Given the description of an element on the screen output the (x, y) to click on. 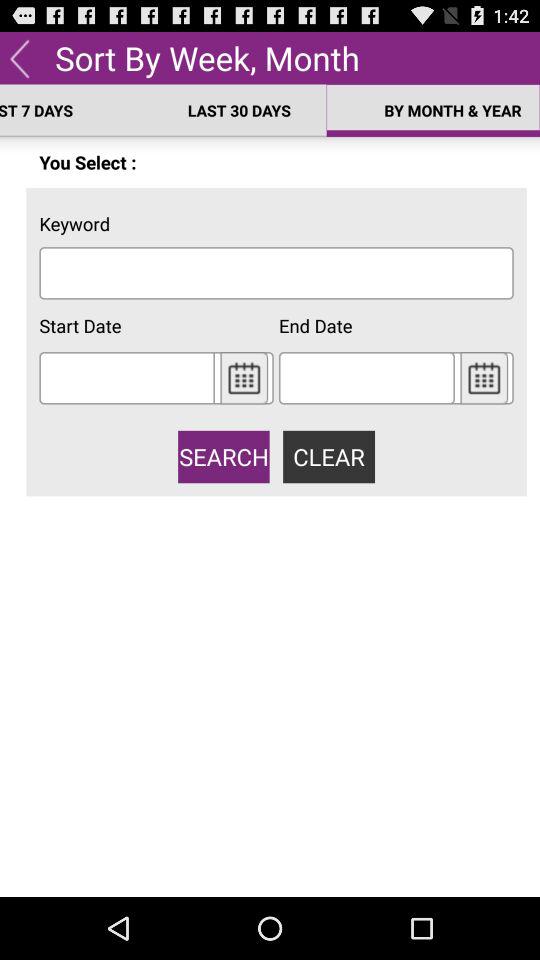
open app next to sort by week app (19, 57)
